Given the description of an element on the screen output the (x, y) to click on. 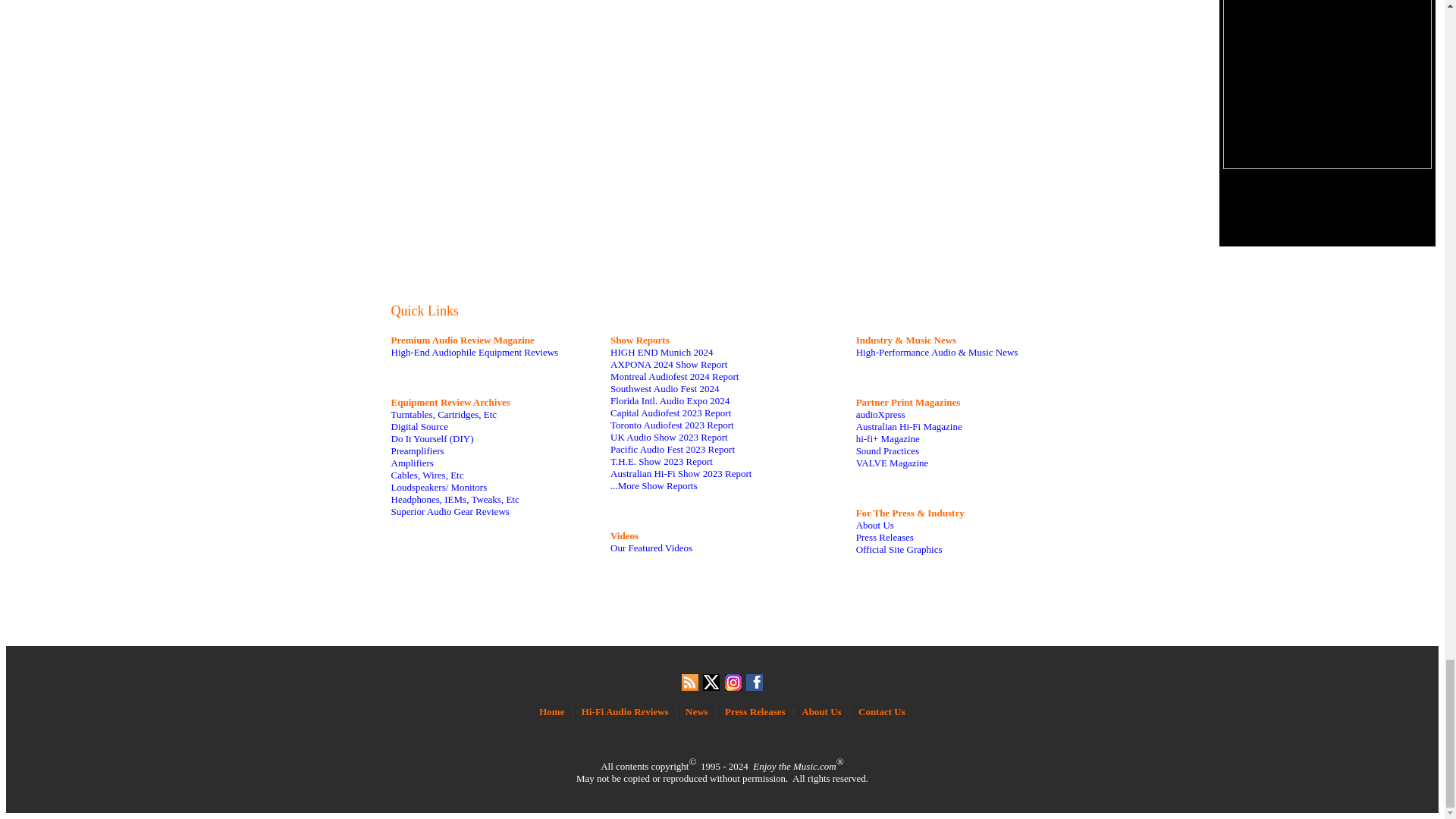
Cables, Wires, Etc (427, 474)
HIGH END Munich 2024 (661, 351)
Superior Audio Gear Reviews (450, 511)
Headphones, IEMs, Tweaks, Etc (455, 499)
Digital Source (419, 426)
Turntables, Cartridges, Etc (444, 414)
Amplifiers (412, 462)
Preamplifiers (417, 450)
High-End Audiophile Equipment Reviews (475, 351)
